Given the description of an element on the screen output the (x, y) to click on. 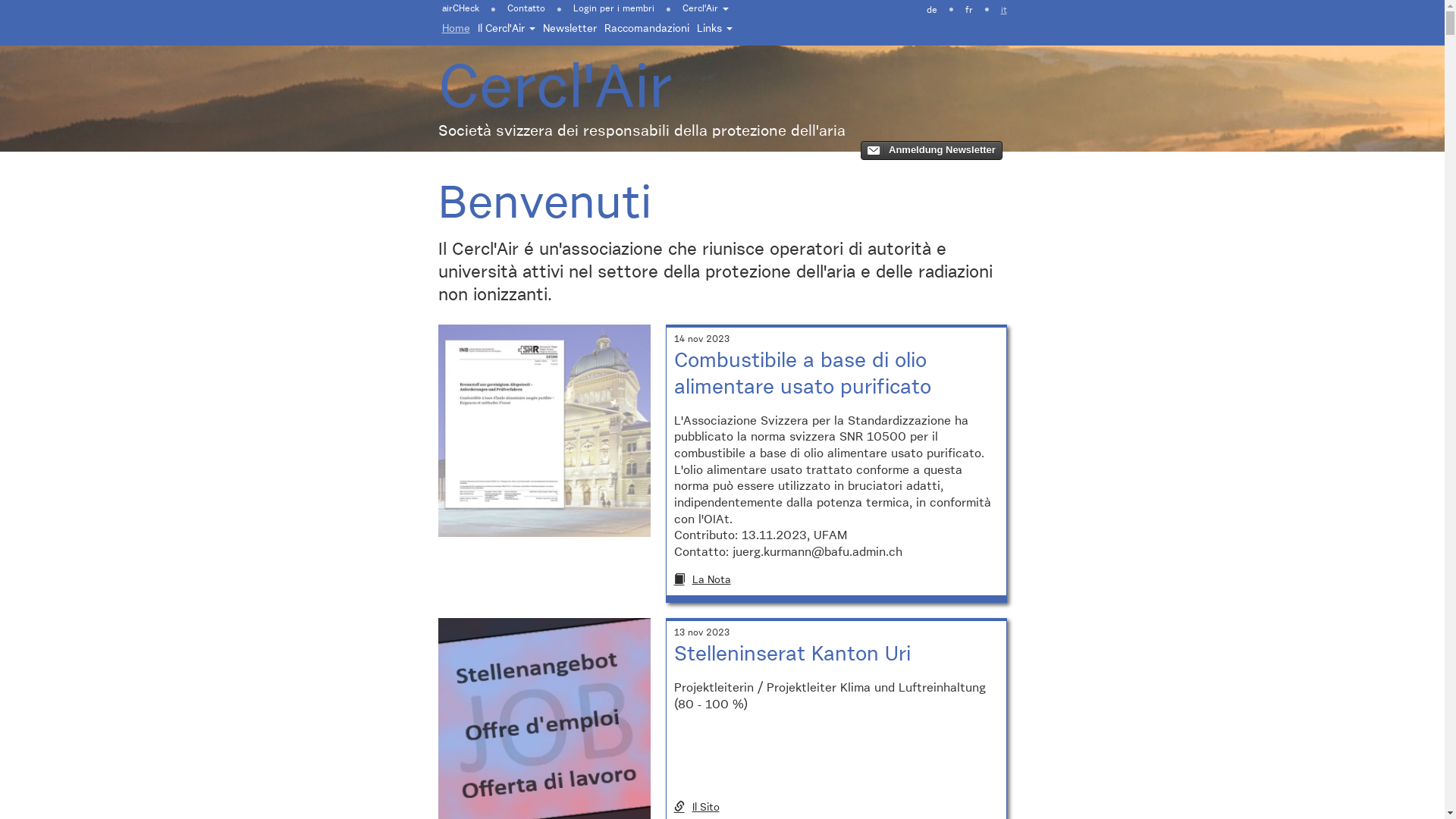
fr Element type: text (968, 9)
La Nota Element type: text (835, 579)
Login per i membri Element type: text (613, 7)
Il Sito Element type: text (835, 807)
Contatto Element type: text (525, 7)
Il Cercl'Air Element type: text (505, 28)
Newsletter Element type: text (568, 28)
Cercl'Air Element type: text (704, 7)
Preview Element type: hover (931, 150)
Links Element type: text (714, 28)
Raccomandazioni Element type: text (646, 28)
Home Element type: text (455, 28)
it Element type: text (1002, 9)
airCHeck Element type: text (464, 7)
de Element type: text (930, 9)
